Given the description of an element on the screen output the (x, y) to click on. 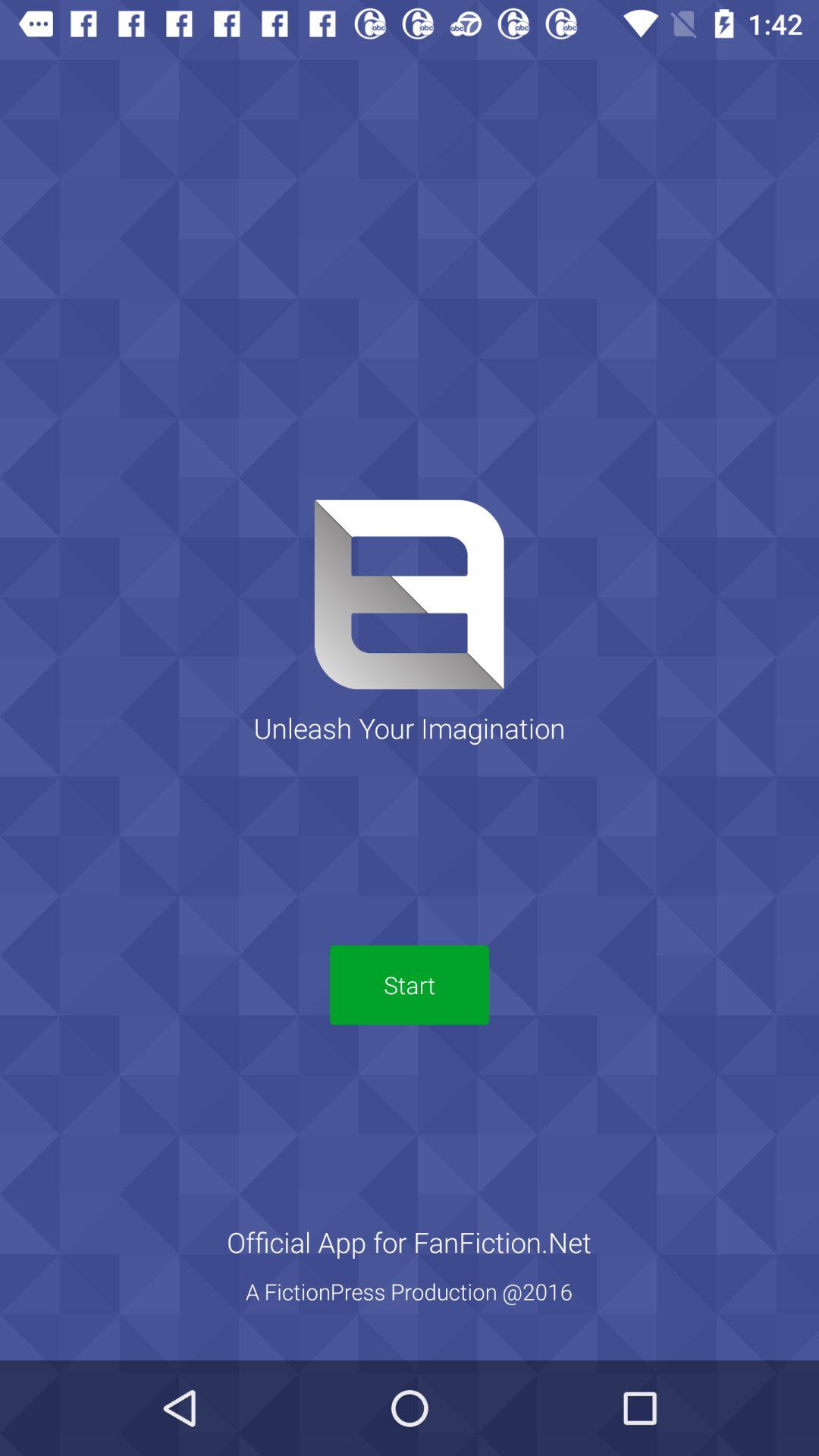
press start item (409, 984)
